Given the description of an element on the screen output the (x, y) to click on. 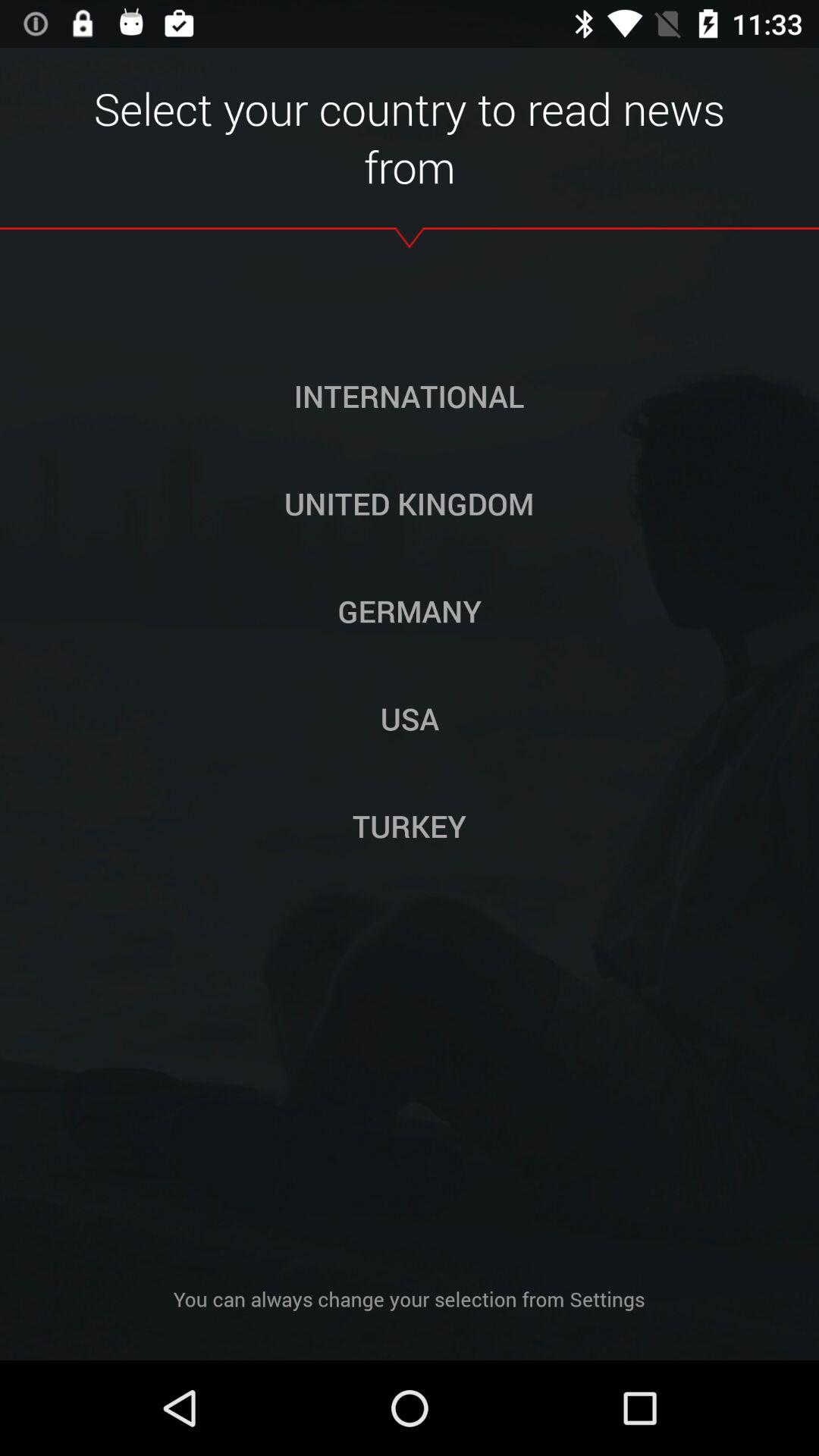
tap germany button (409, 610)
